Given the description of an element on the screen output the (x, y) to click on. 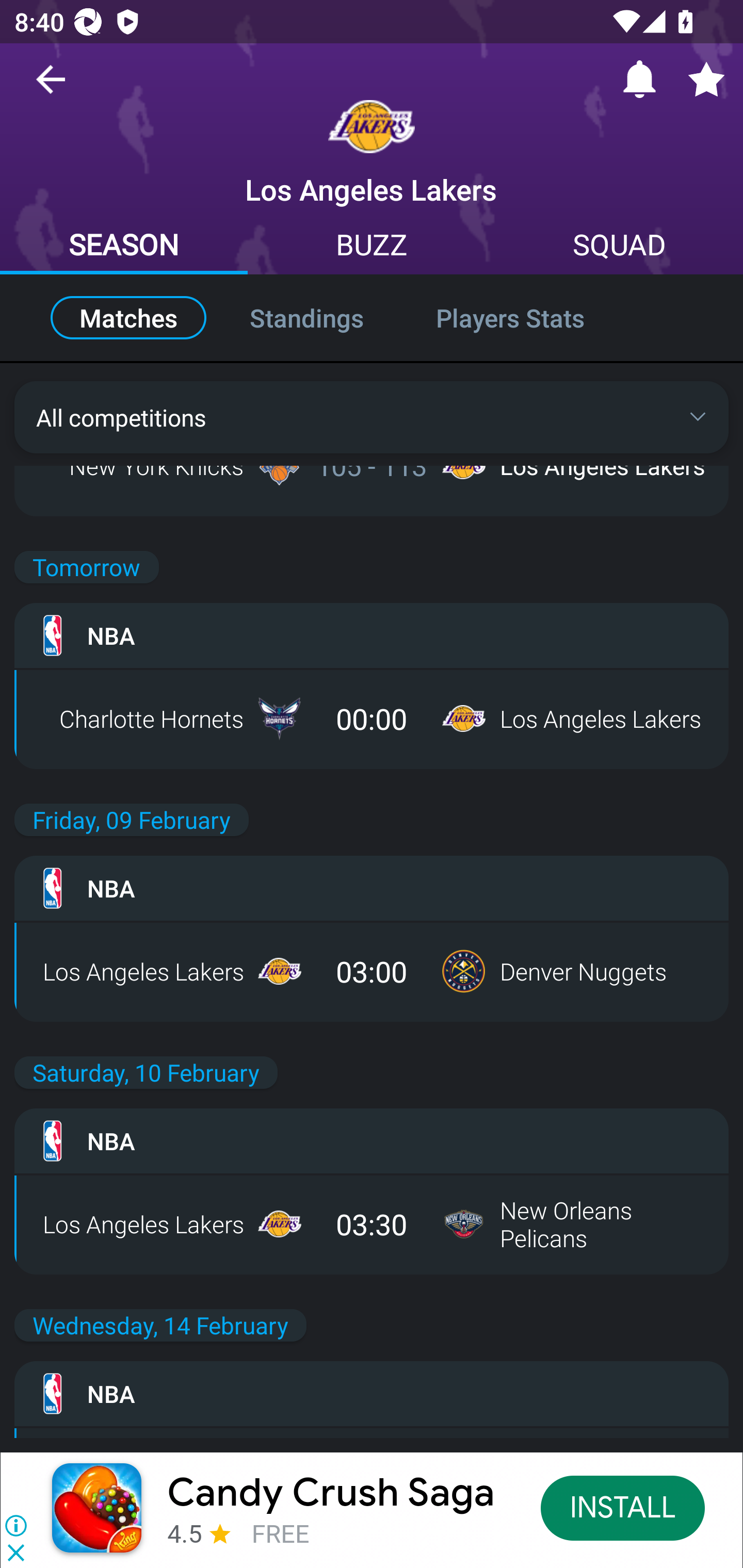
Navigate up (50, 86)
SEASON (123, 246)
BUZZ (371, 246)
SQUAD (619, 246)
Standings (306, 317)
Players Stats (531, 317)
All competitions (371, 417)
NBA (371, 635)
Charlotte Hornets 00:00 Los Angeles Lakers (371, 717)
NBA (371, 888)
Los Angeles Lakers 03:00 Denver Nuggets (371, 971)
NBA (371, 1140)
Los Angeles Lakers 03:30 New Orleans Pelicans (371, 1223)
NBA (371, 1393)
Candy Crush Saga (330, 1493)
INSTALL (623, 1507)
4.5 (184, 1533)
FREE (280, 1533)
